Given the description of an element on the screen output the (x, y) to click on. 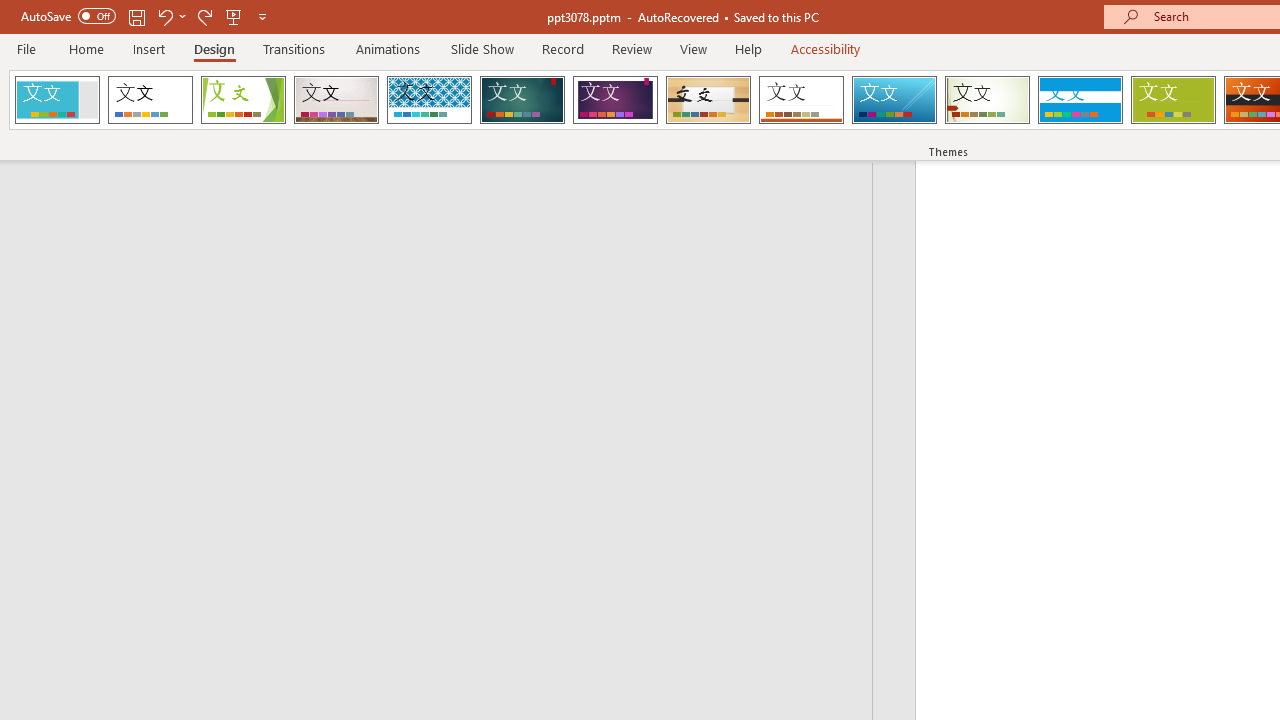
Frame (57, 100)
Facet (243, 100)
Basis (1172, 100)
Outline (445, 202)
Wisp (987, 100)
Gallery (336, 100)
